Given the description of an element on the screen output the (x, y) to click on. 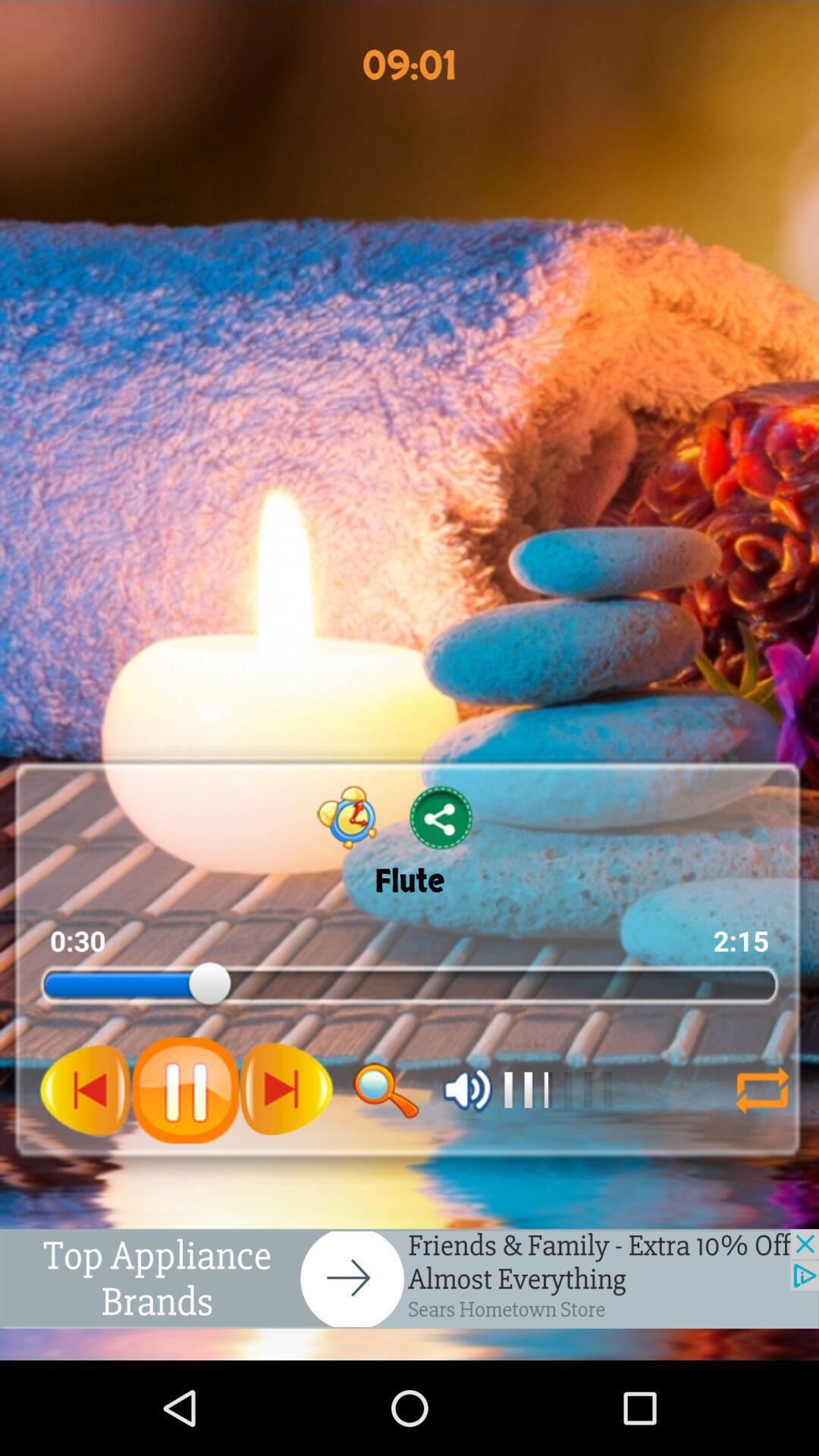
next track (285, 1090)
